Given the description of an element on the screen output the (x, y) to click on. 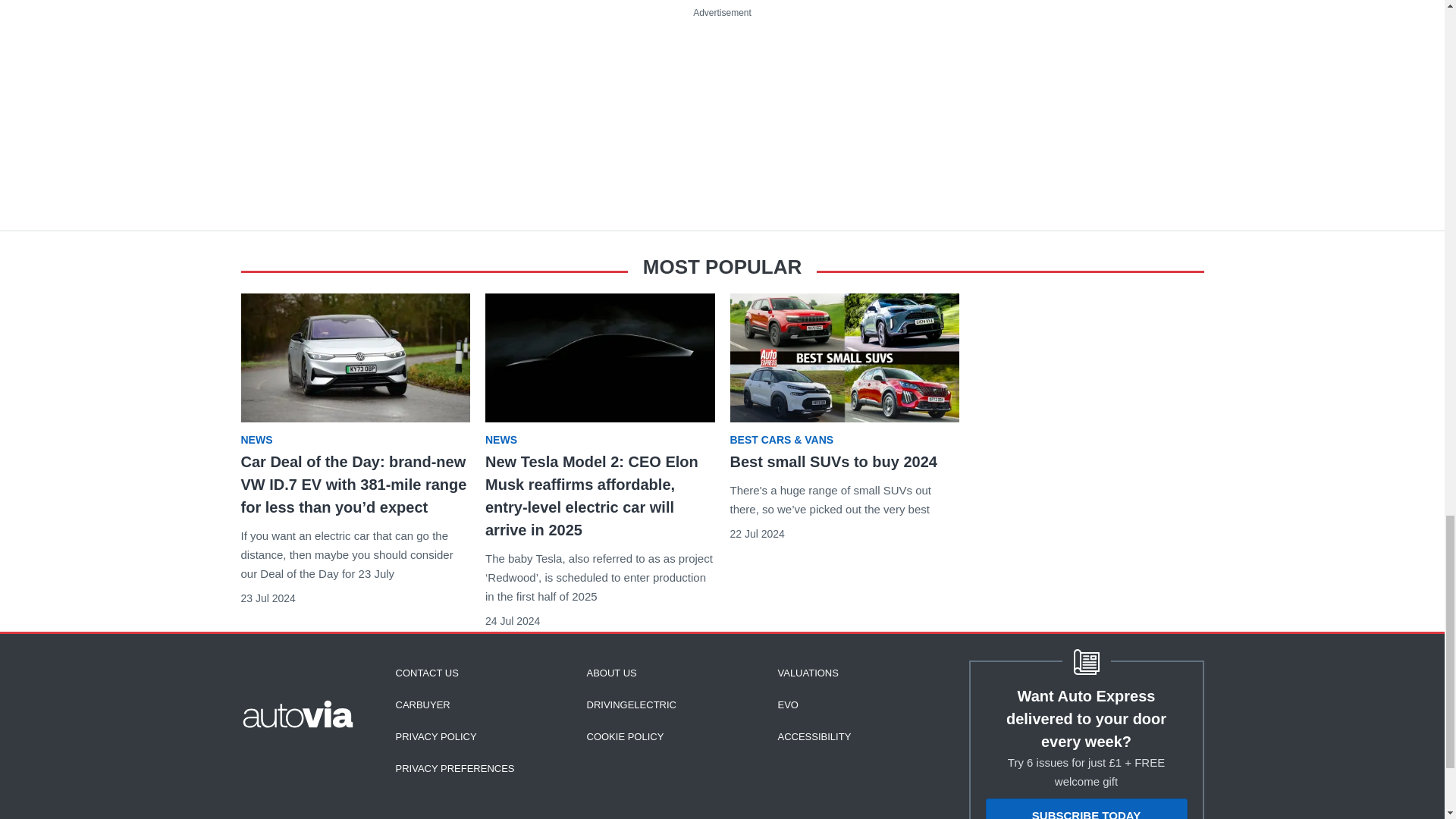
SUBSCRIBE TODAY (1086, 808)
